Given the description of an element on the screen output the (x, y) to click on. 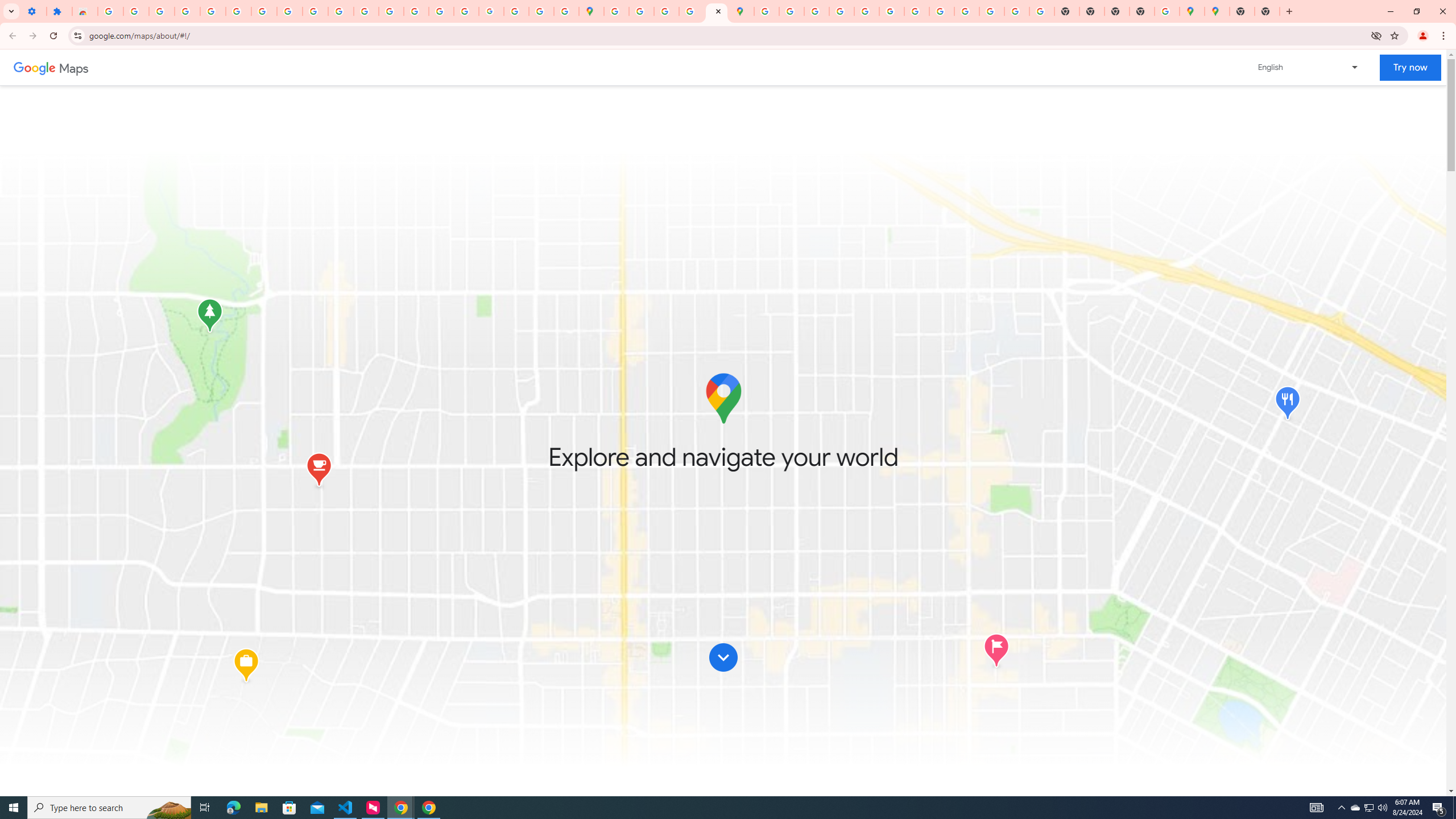
Create your Google Account (666, 11)
Maps (73, 67)
https://scholar.google.com/ (340, 11)
Sign in - Google Accounts (213, 11)
